Given the description of an element on the screen output the (x, y) to click on. 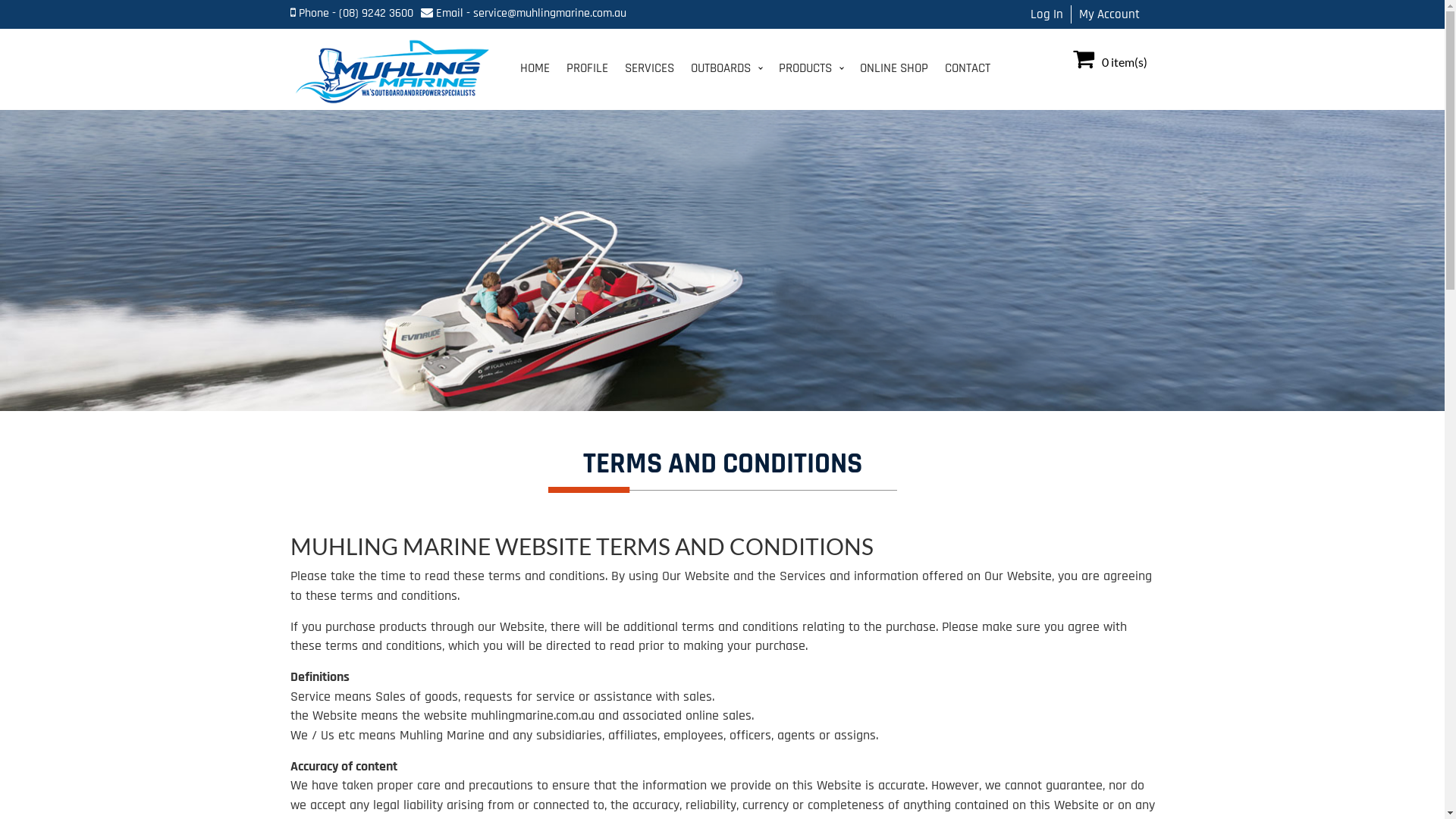
service@muhlingmarine.com.au Element type: text (549, 13)
0 item(s) Element type: text (1109, 61)
(08) 9242 3600 Element type: text (375, 13)
SERVICES Element type: text (649, 68)
PRODUCTS Element type: text (810, 68)
ONLINE SHOP Element type: text (893, 68)
HOME Element type: text (534, 68)
OUTBOARDS Element type: text (726, 68)
My Account Element type: text (1108, 14)
PROFILE Element type: text (586, 68)
Log In Element type: text (1045, 14)
CONTACT Element type: text (967, 68)
